Given the description of an element on the screen output the (x, y) to click on. 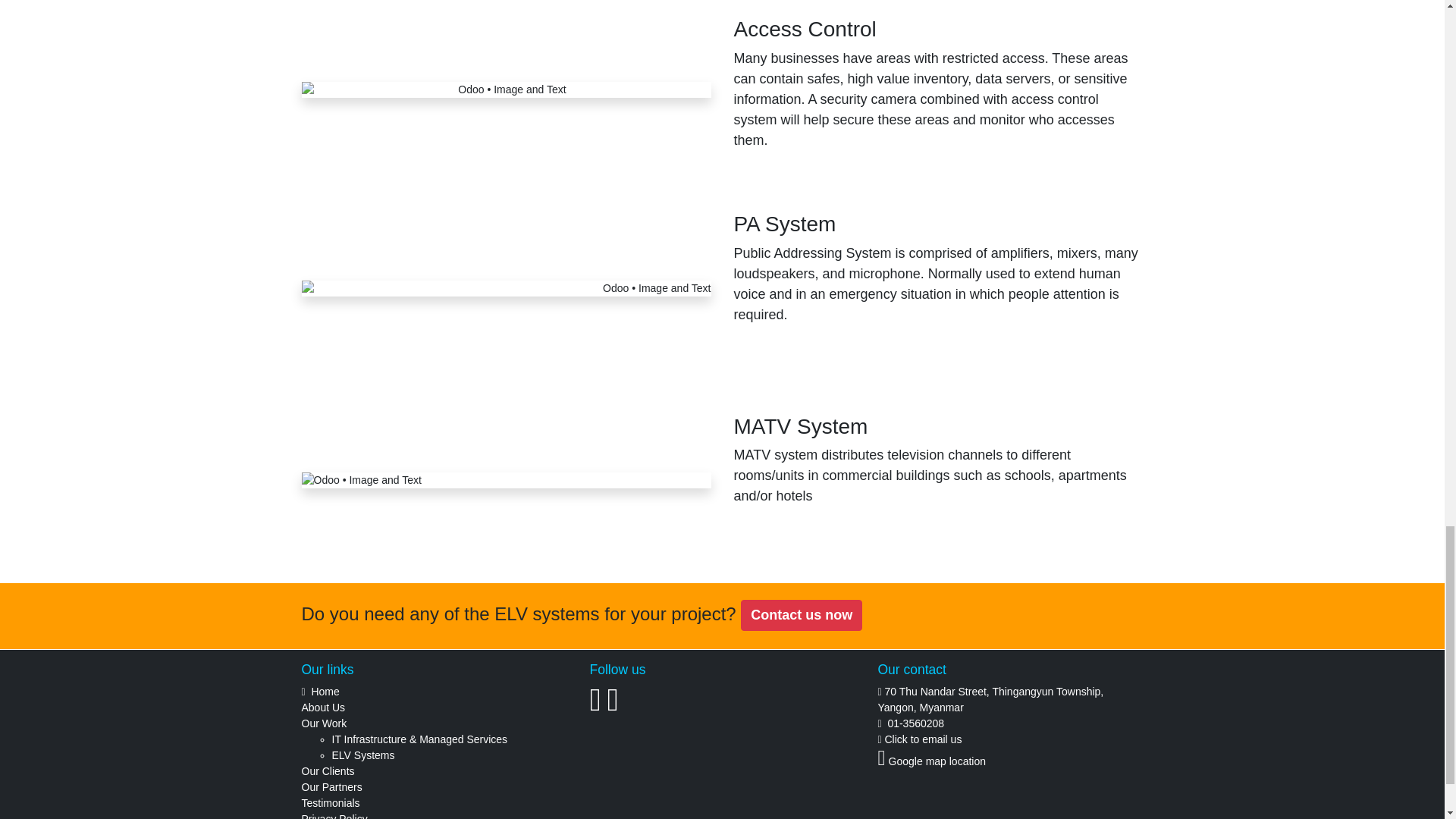
About Us (323, 707)
Google map location (936, 761)
Click to email us (921, 739)
Testimonials (330, 802)
Our Partners (331, 787)
Home (325, 691)
Our Clients (328, 770)
ELV Systems (362, 755)
Contact us now (801, 614)
Privacy Policy (334, 816)
